Given the description of an element on the screen output the (x, y) to click on. 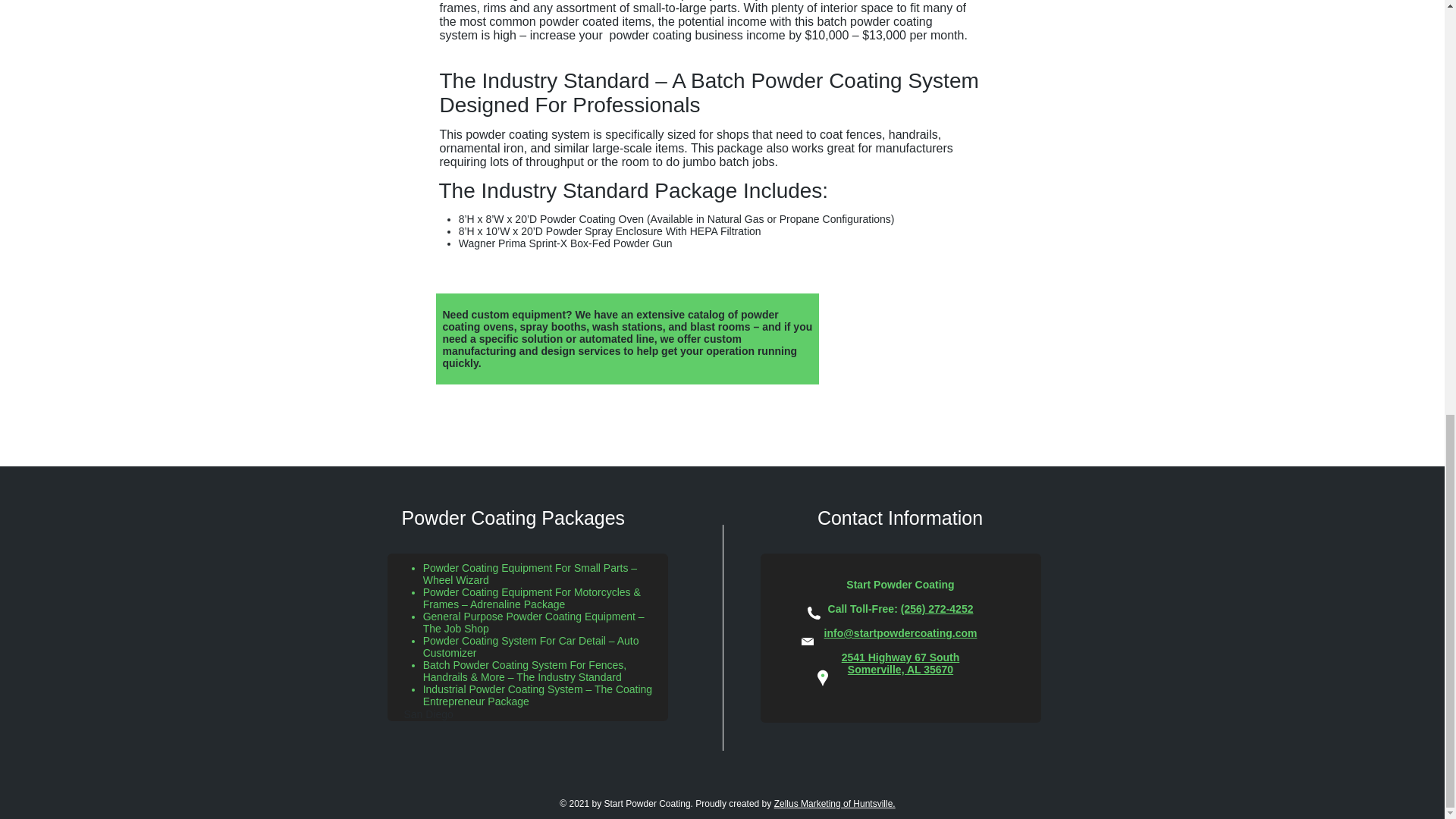
Zellus Marketing of Huntsville. (834, 803)
